Given the description of an element on the screen output the (x, y) to click on. 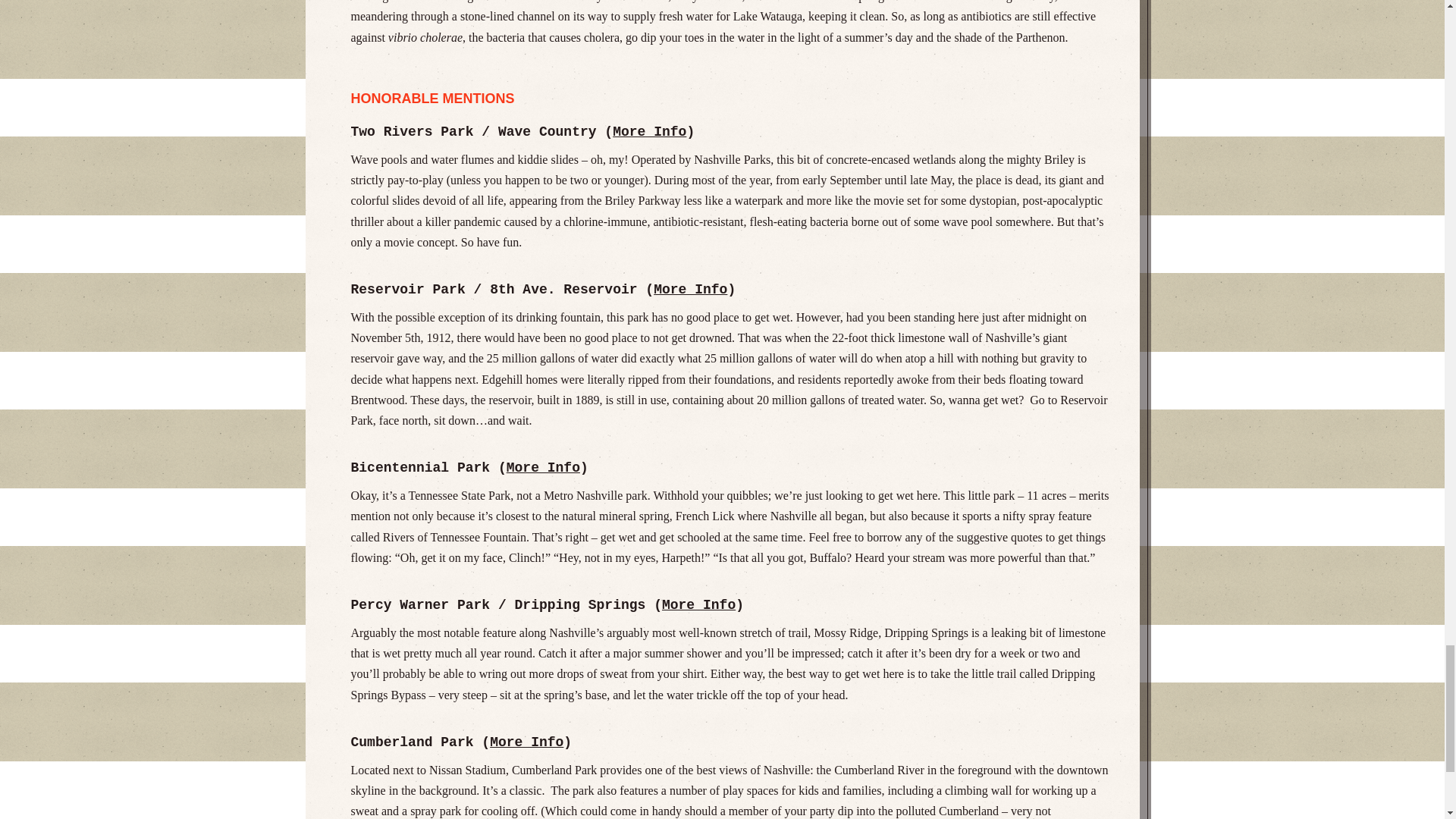
More Info (689, 289)
More Info (542, 467)
More Info (526, 742)
More Info (698, 604)
More Info (648, 131)
